Given the description of an element on the screen output the (x, y) to click on. 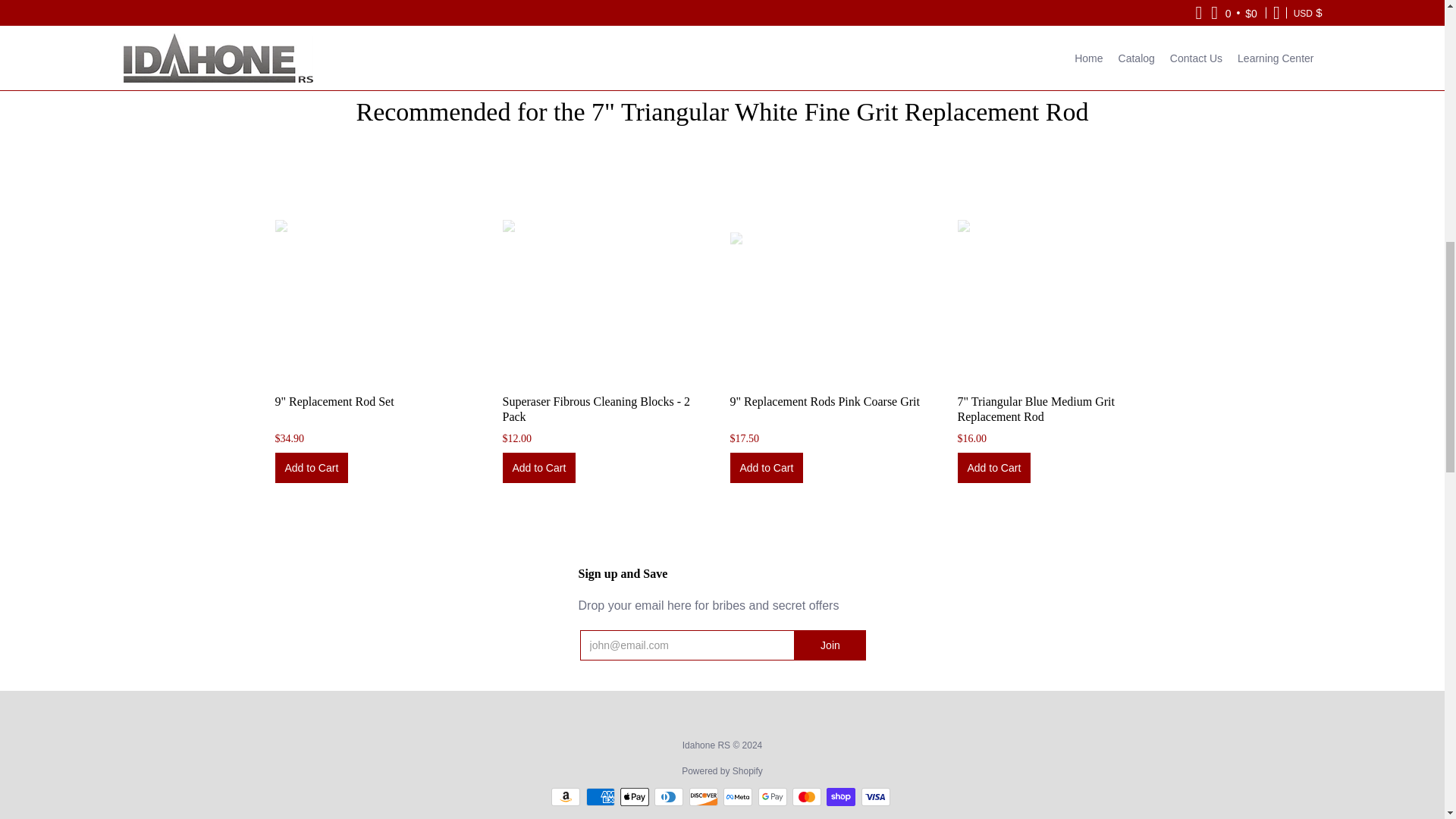
Visa (875, 796)
Google Pay (772, 796)
Shop Pay (841, 796)
Meta Pay (737, 796)
Add to Cart (311, 467)
American Express (600, 796)
Add to Cart (538, 467)
Add to Cart (766, 467)
Discover (702, 796)
Join (829, 644)
Diners Club (667, 796)
Mastercard (806, 796)
Add to Cart (993, 467)
Apple Pay (634, 796)
Amazon (565, 796)
